Given the description of an element on the screen output the (x, y) to click on. 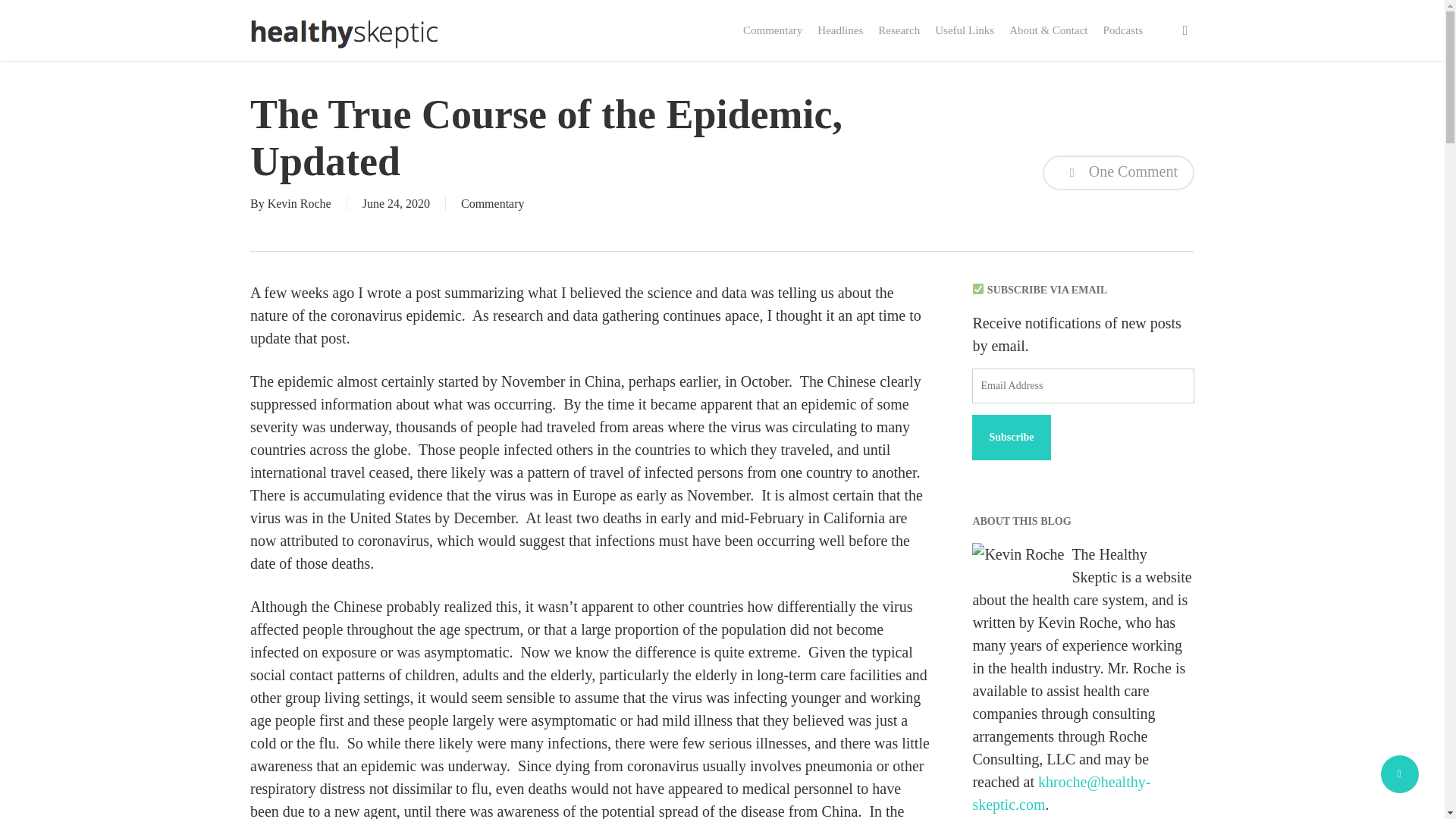
Headlines (839, 30)
Commentary (772, 30)
Posts by Kevin Roche (299, 203)
Research (898, 30)
Useful Links (964, 30)
search (1184, 29)
One Comment (1117, 172)
Subscribe (1010, 437)
Podcasts (1122, 30)
Commentary (492, 203)
